Given the description of an element on the screen output the (x, y) to click on. 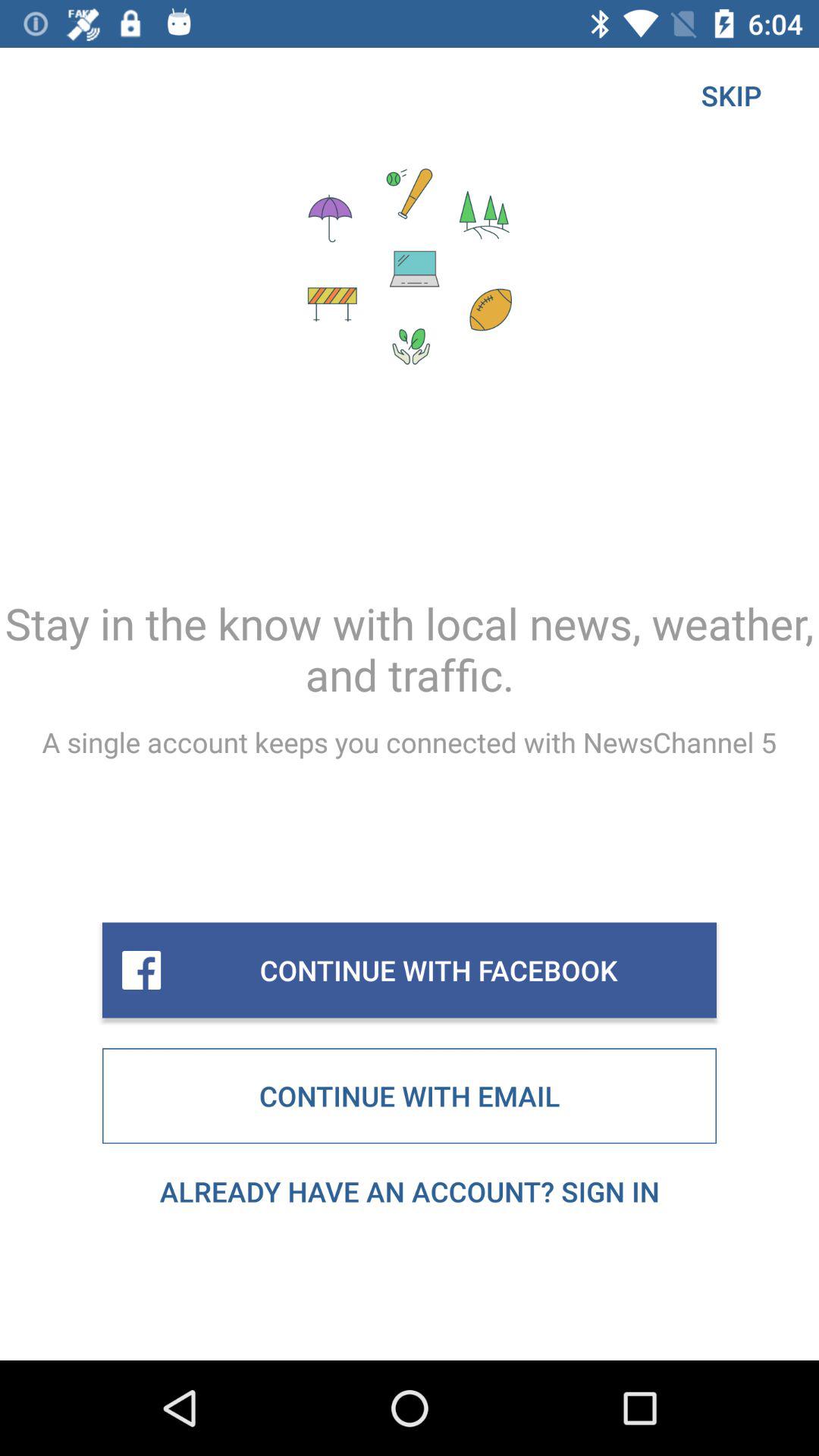
scroll to skip icon (731, 95)
